Given the description of an element on the screen output the (x, y) to click on. 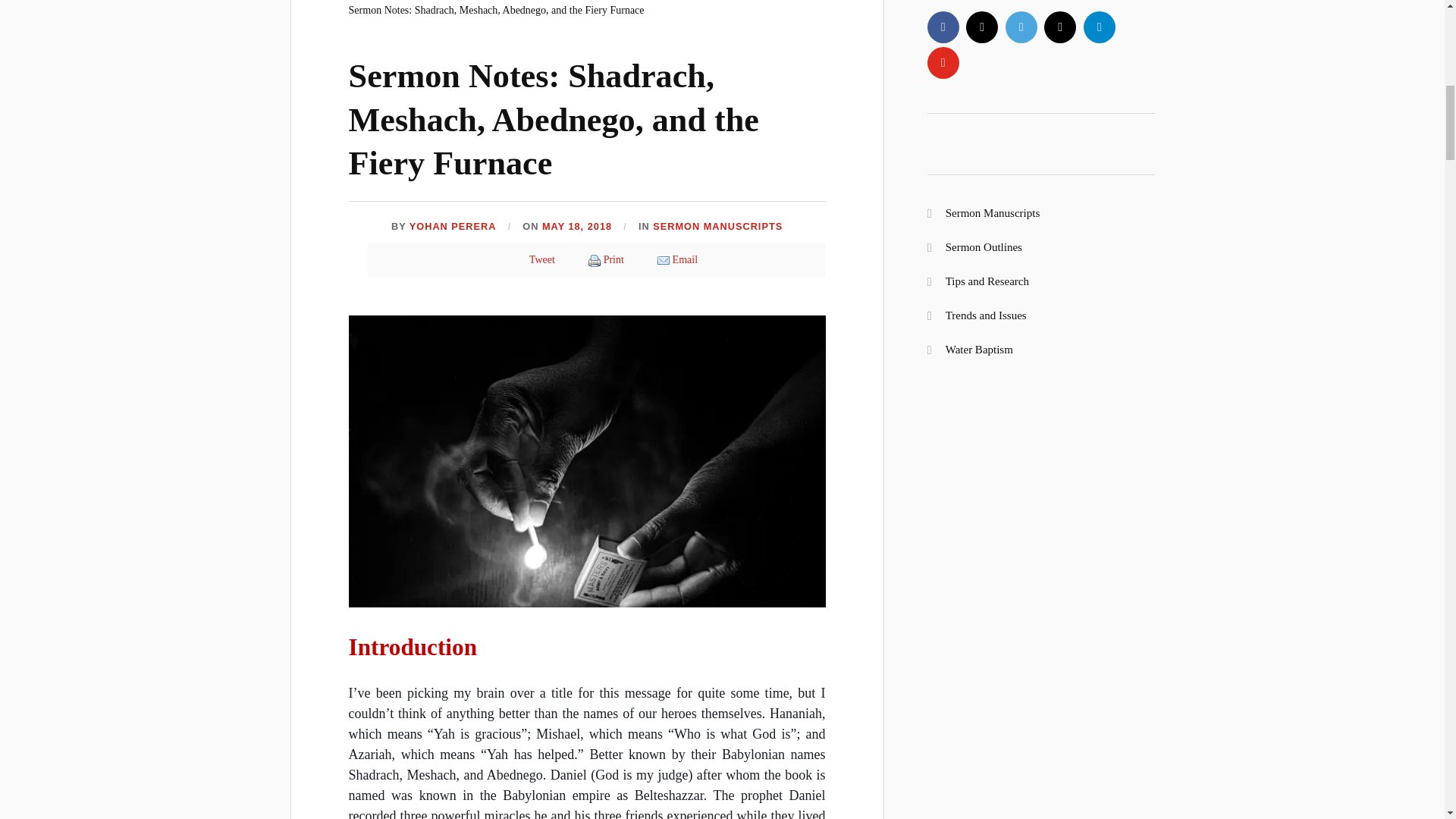
Print (614, 259)
MAY 18, 2018 (576, 226)
YOHAN PERERA (452, 226)
SERMON MANUSCRIPTS (717, 226)
Print (614, 259)
Tweet (541, 259)
Print (593, 260)
Posts by Yohan Perera (452, 226)
